Given the description of an element on the screen output the (x, y) to click on. 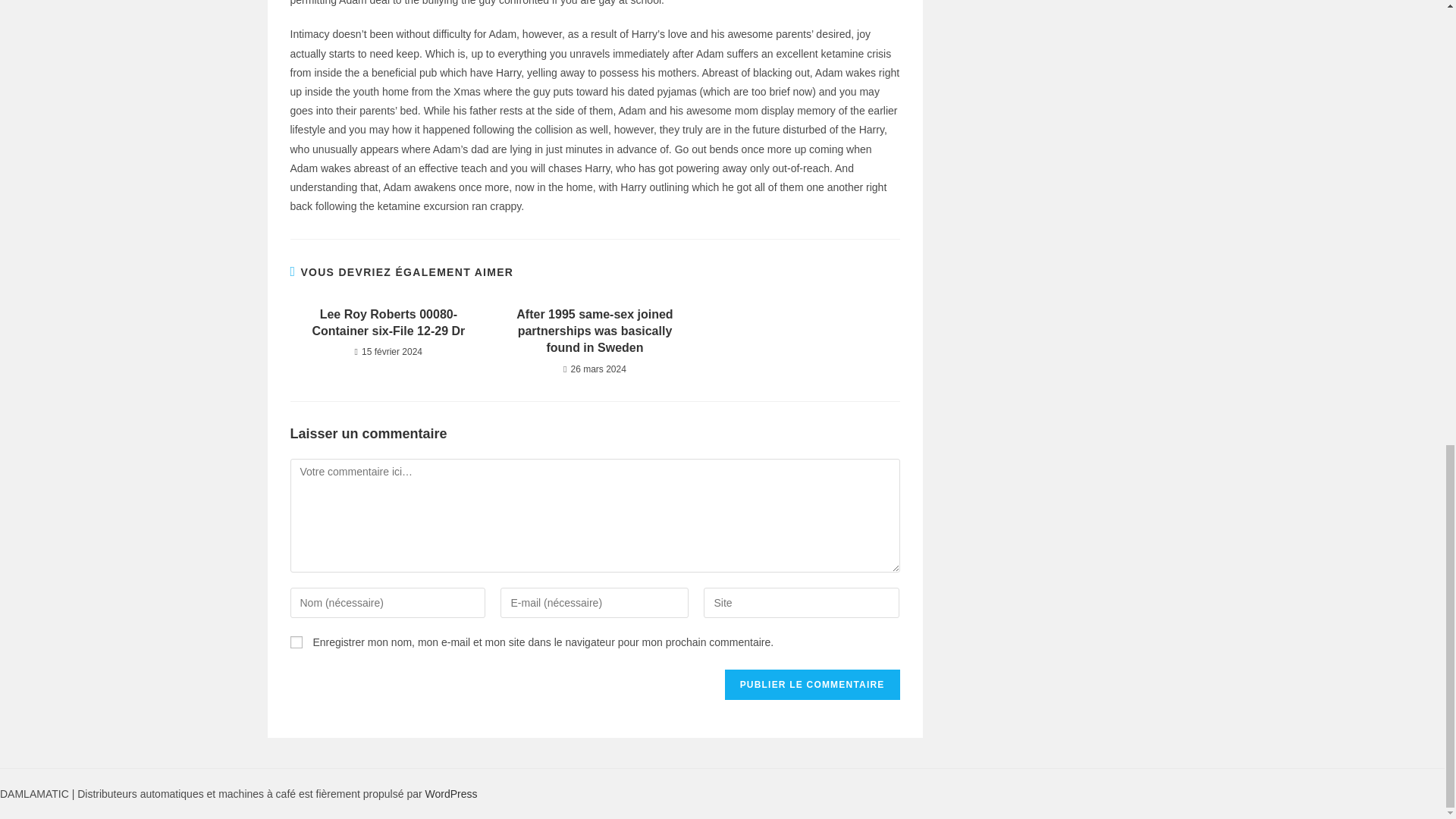
Publier le commentaire (812, 684)
yes (295, 642)
